Given the description of an element on the screen output the (x, y) to click on. 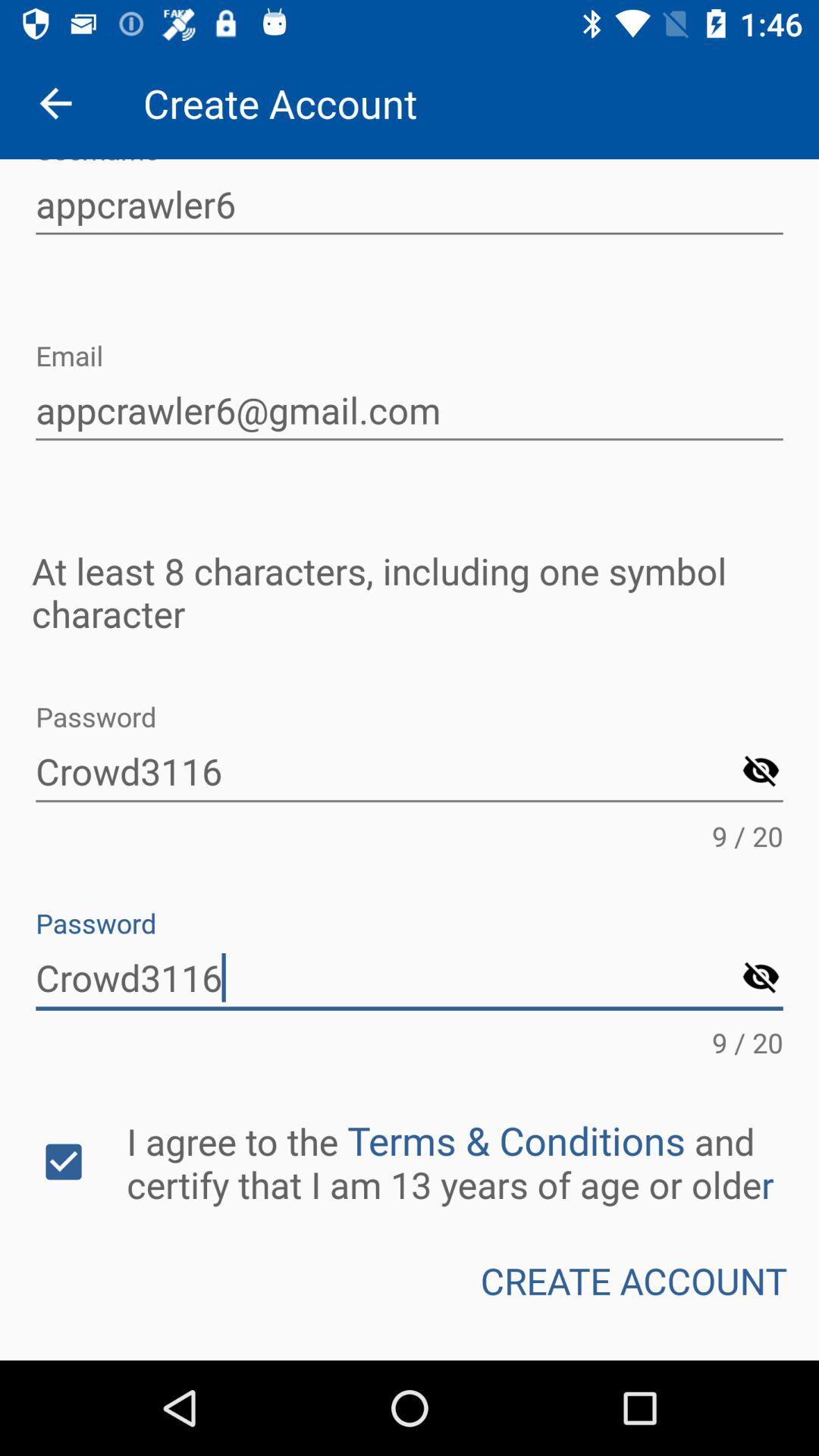
hide button (761, 978)
